Given the description of an element on the screen output the (x, y) to click on. 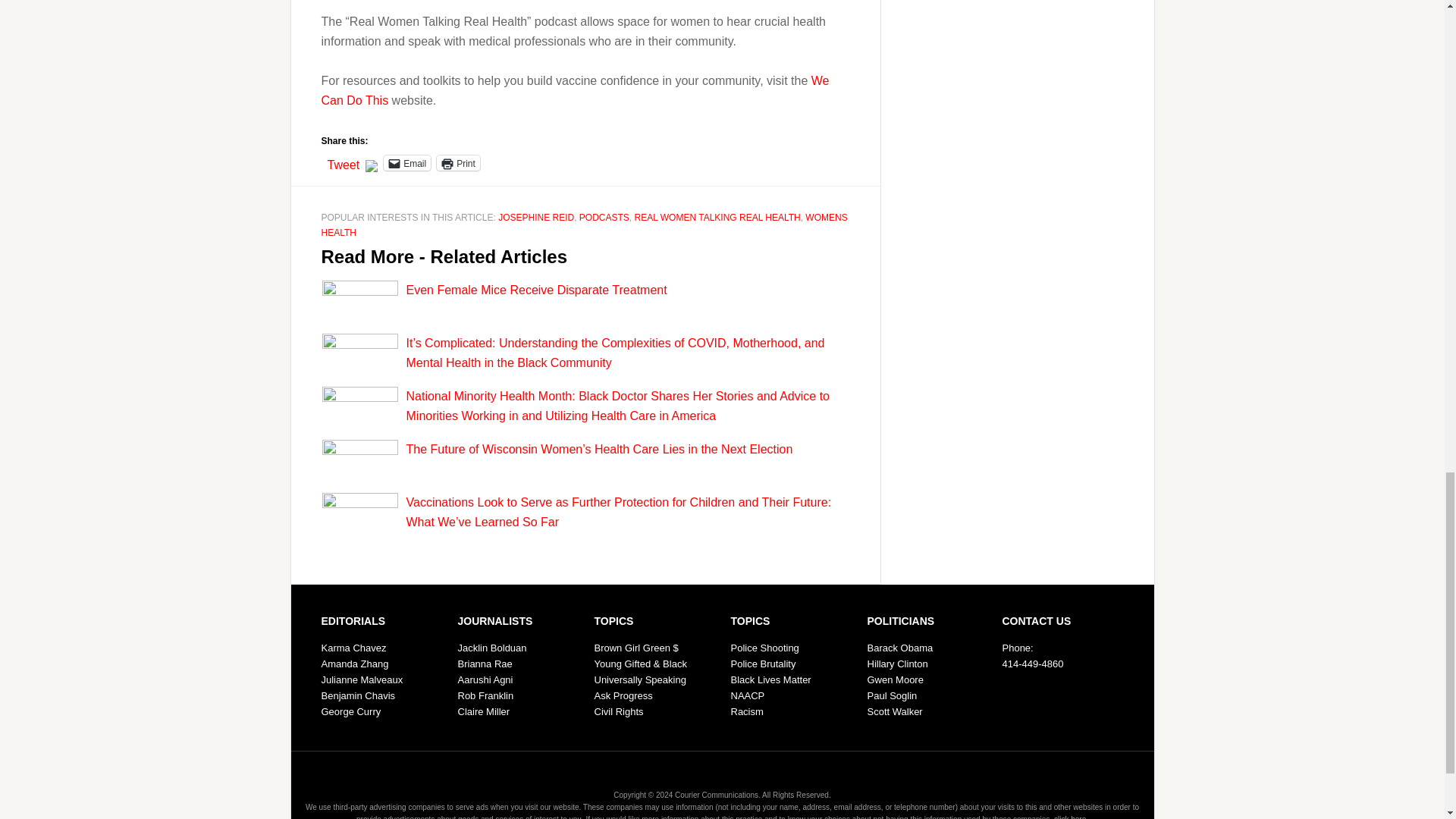
PODCASTS (603, 217)
Print (458, 162)
We Can Do This (575, 90)
WOMENS HEALTH (584, 225)
Tweet (343, 161)
Even Female Mice Receive Disparate Treatment (536, 289)
Even Female Mice Receive Disparate Treatment (536, 289)
Click to print (458, 162)
JOSEPHINE REID (535, 217)
